Given the description of an element on the screen output the (x, y) to click on. 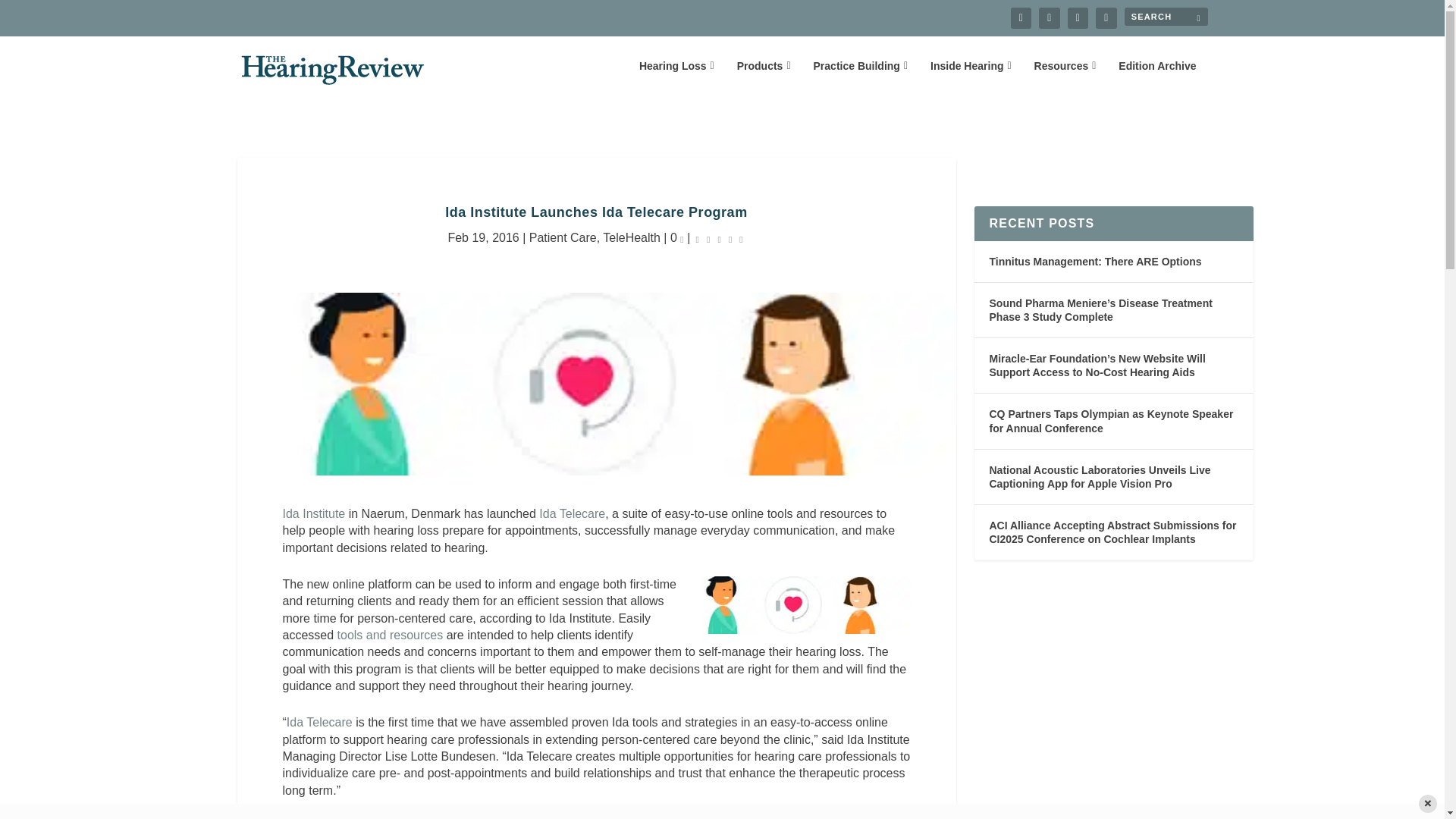
Ida Telecare, first time appointment (319, 721)
Search for: (1165, 16)
Edition Archive (1156, 77)
Resources (1064, 77)
Inside Hearing (970, 77)
Practice Building (860, 77)
Ida Institute (313, 513)
Products (763, 77)
Ida Telecare (571, 513)
HR coverage of Ida Tools (390, 634)
